Given the description of an element on the screen output the (x, y) to click on. 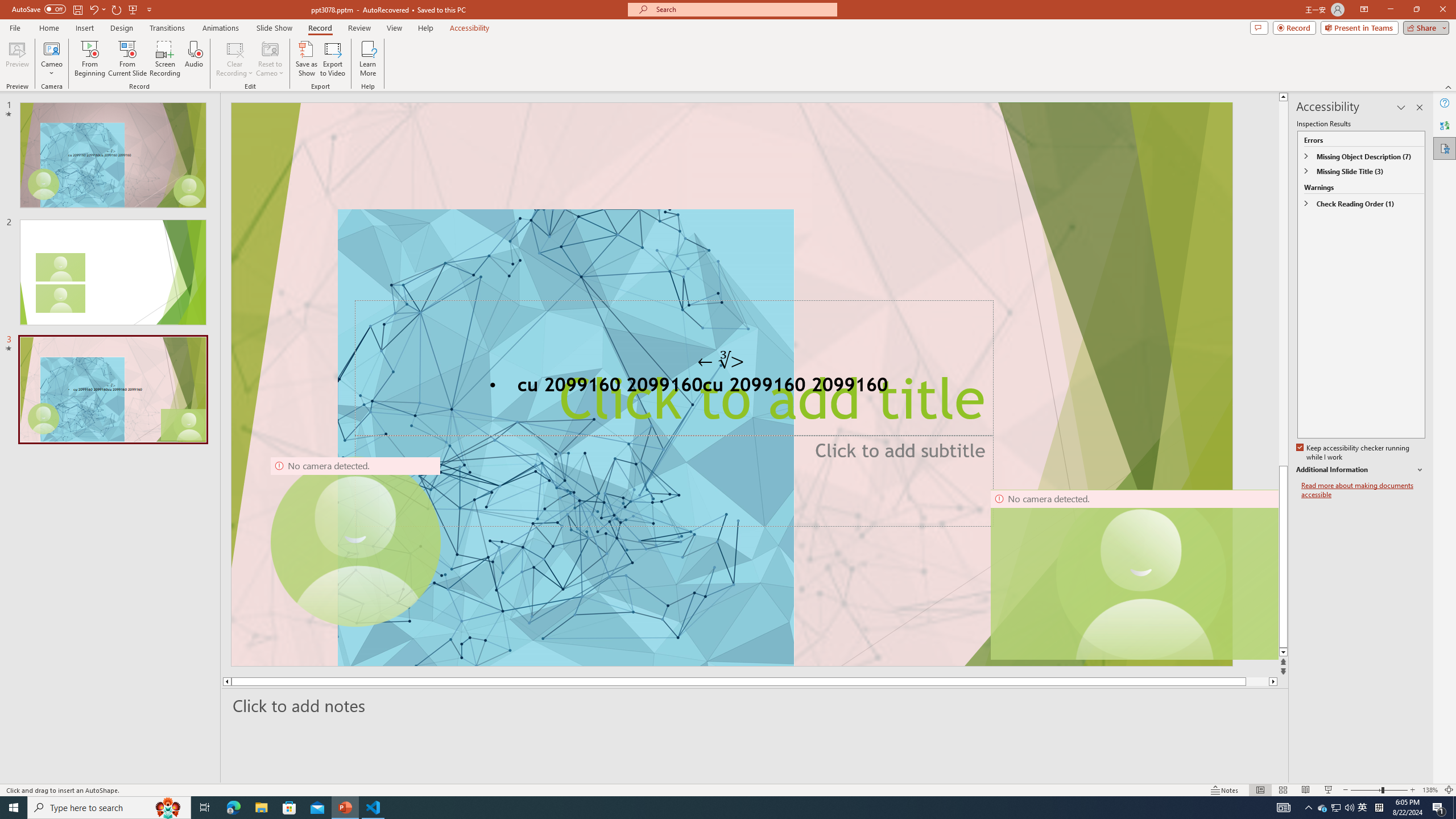
An abstract genetic concept (731, 384)
Read more about making documents accessible (1363, 489)
Page up (1283, 283)
Reset to Cameo (269, 58)
Subtitle TextBox (673, 480)
